Given the description of an element on the screen output the (x, y) to click on. 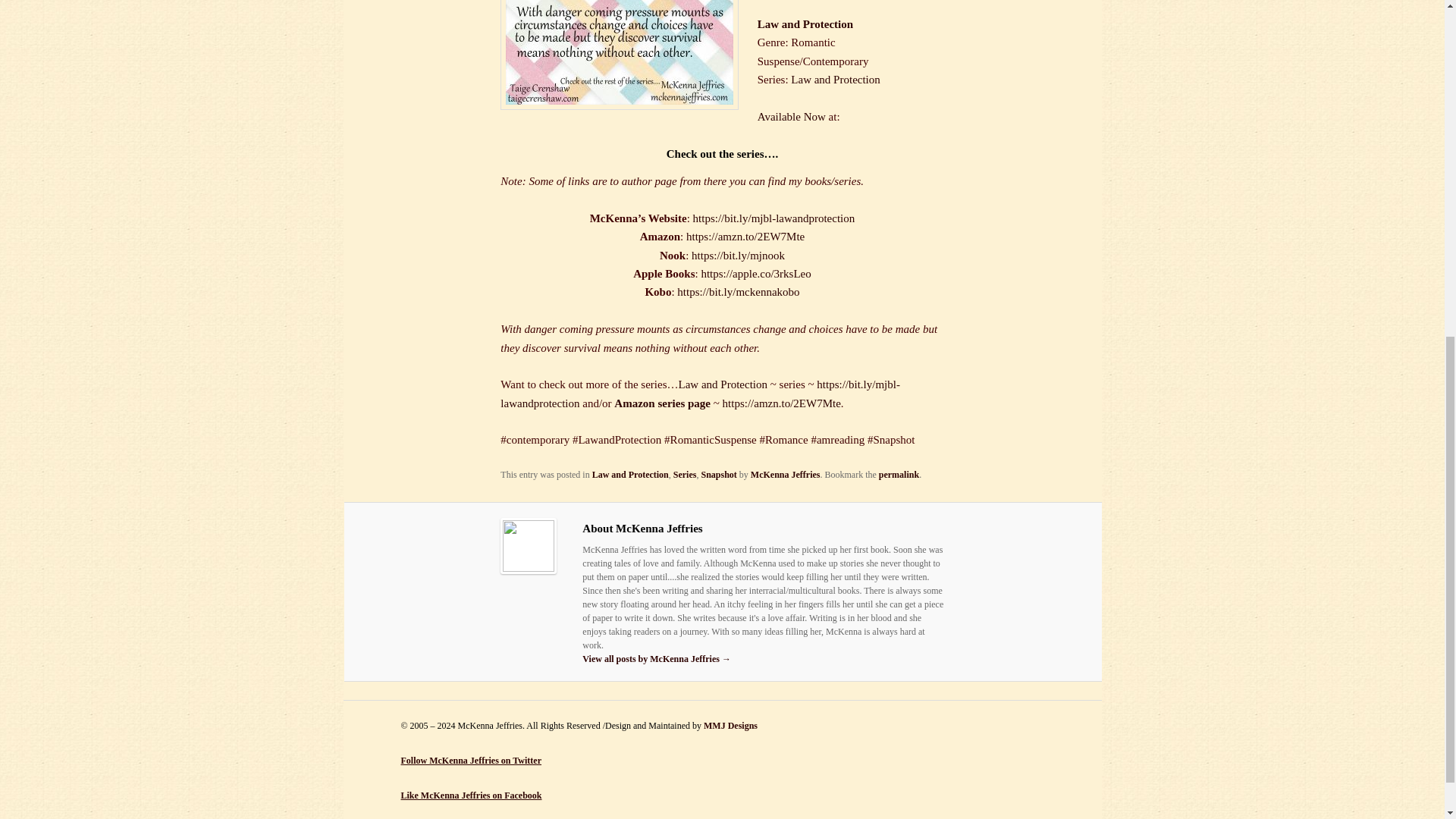
Snapshot (718, 474)
Law and Protection (805, 24)
MMJ Designs (730, 725)
Series (684, 474)
McKenna Jeffries (786, 474)
permalink (898, 474)
MMJ Designs (730, 725)
Law and Protection (722, 384)
Amazon series page (662, 403)
Law and Protection (834, 79)
Follow McKenna Jeffries on Twitter (470, 760)
Available Now (791, 116)
Like McKenna Jeffries on Facebook (470, 795)
Law and Protection (630, 474)
